Given the description of an element on the screen output the (x, y) to click on. 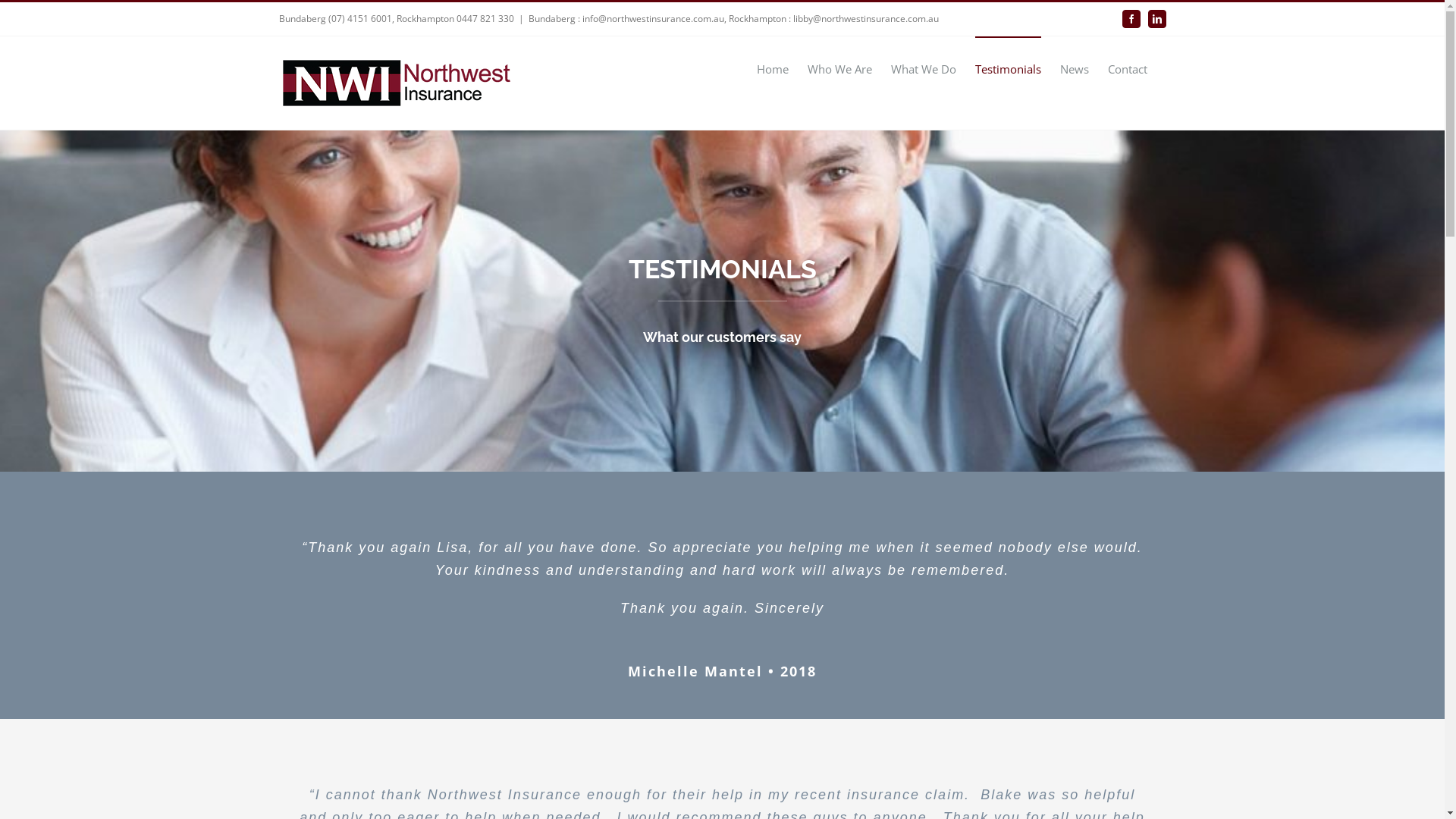
News Element type: text (1074, 68)
Facebook Element type: text (1131, 18)
Testimonials Element type: text (1008, 68)
What We Do Element type: text (922, 68)
Contact Element type: text (1126, 68)
Who We Are Element type: text (838, 68)
LinkedIn Element type: text (1157, 18)
Home Element type: text (772, 68)
